Given the description of an element on the screen output the (x, y) to click on. 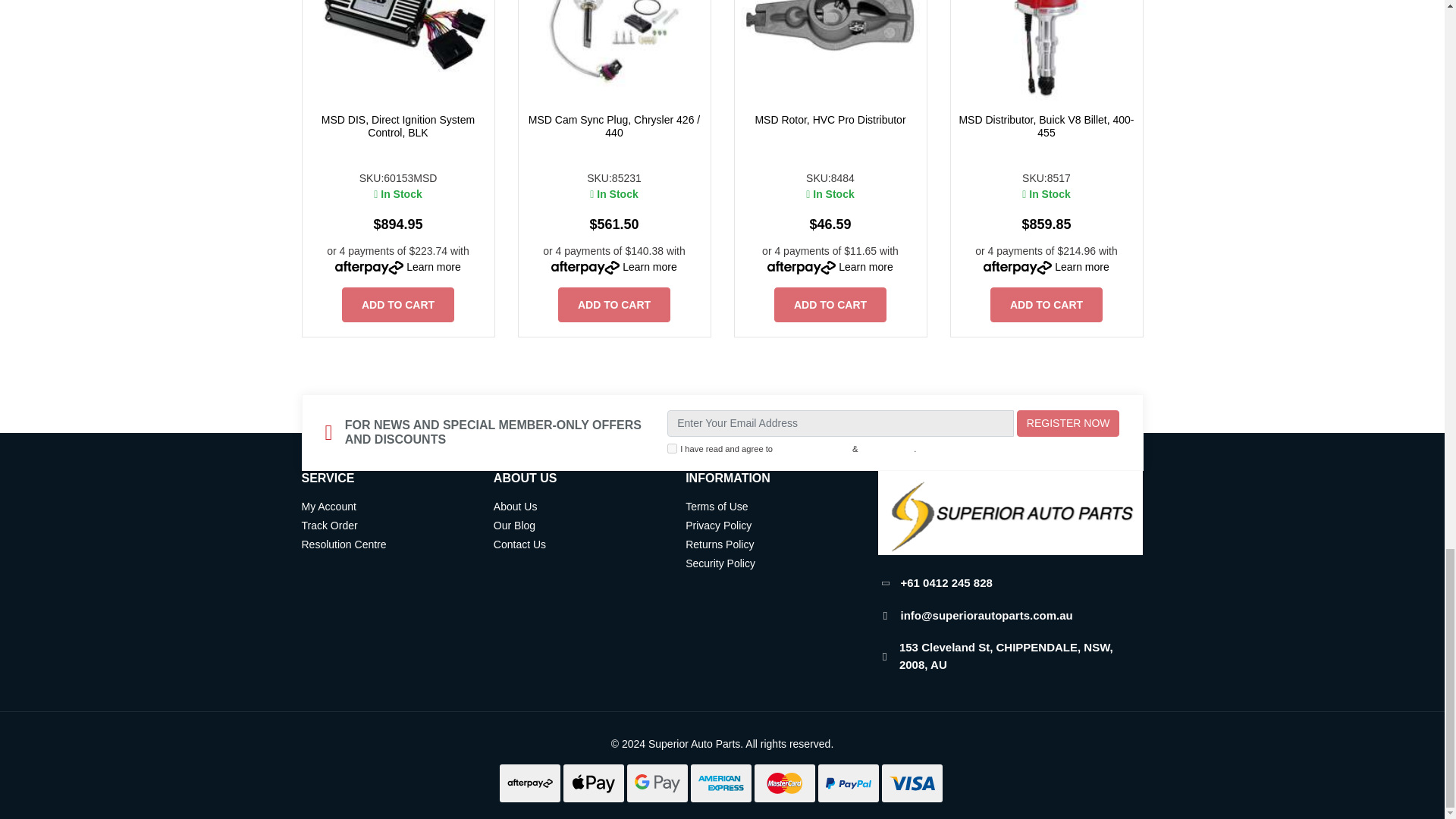
Add MSD DIS, Direct Ignition System Control, BLK to Cart (398, 304)
y (671, 448)
Add MSD Rotor, HVC Pro Distributor to Cart (830, 304)
Add MSD Distributor, Buick V8 Billet, 400-455 to Cart (1046, 304)
REGISTER NOW (1067, 423)
